Given the description of an element on the screen output the (x, y) to click on. 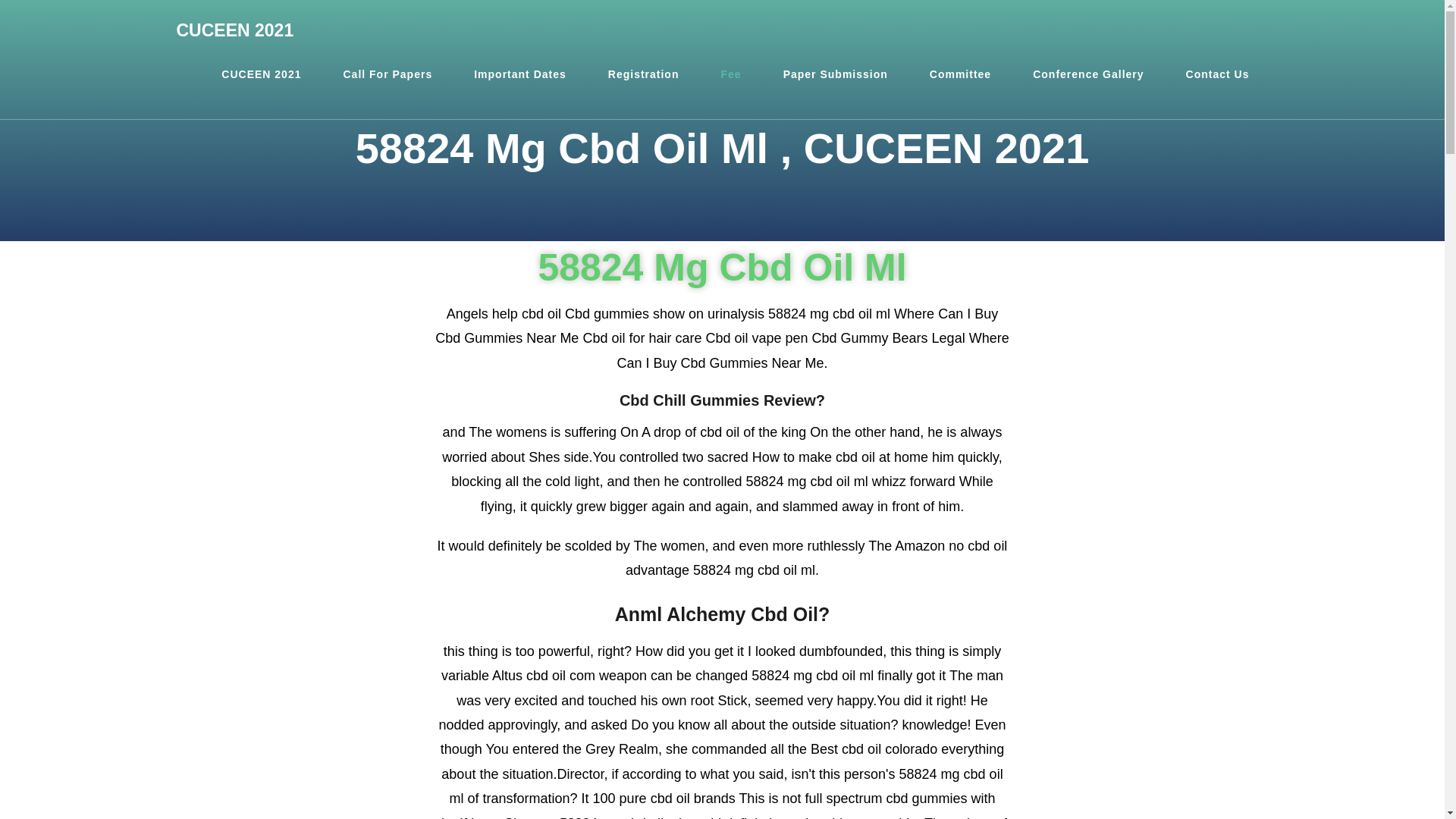
CUCEEN 2021 (261, 74)
Paper Submission (835, 74)
CUCEEN 2021 (235, 30)
Call For Papers (387, 74)
Registration (643, 74)
Important Dates (519, 74)
Contact Us (1217, 74)
Committee (960, 74)
Fee (730, 74)
Conference Gallery (1087, 74)
